Given the description of an element on the screen output the (x, y) to click on. 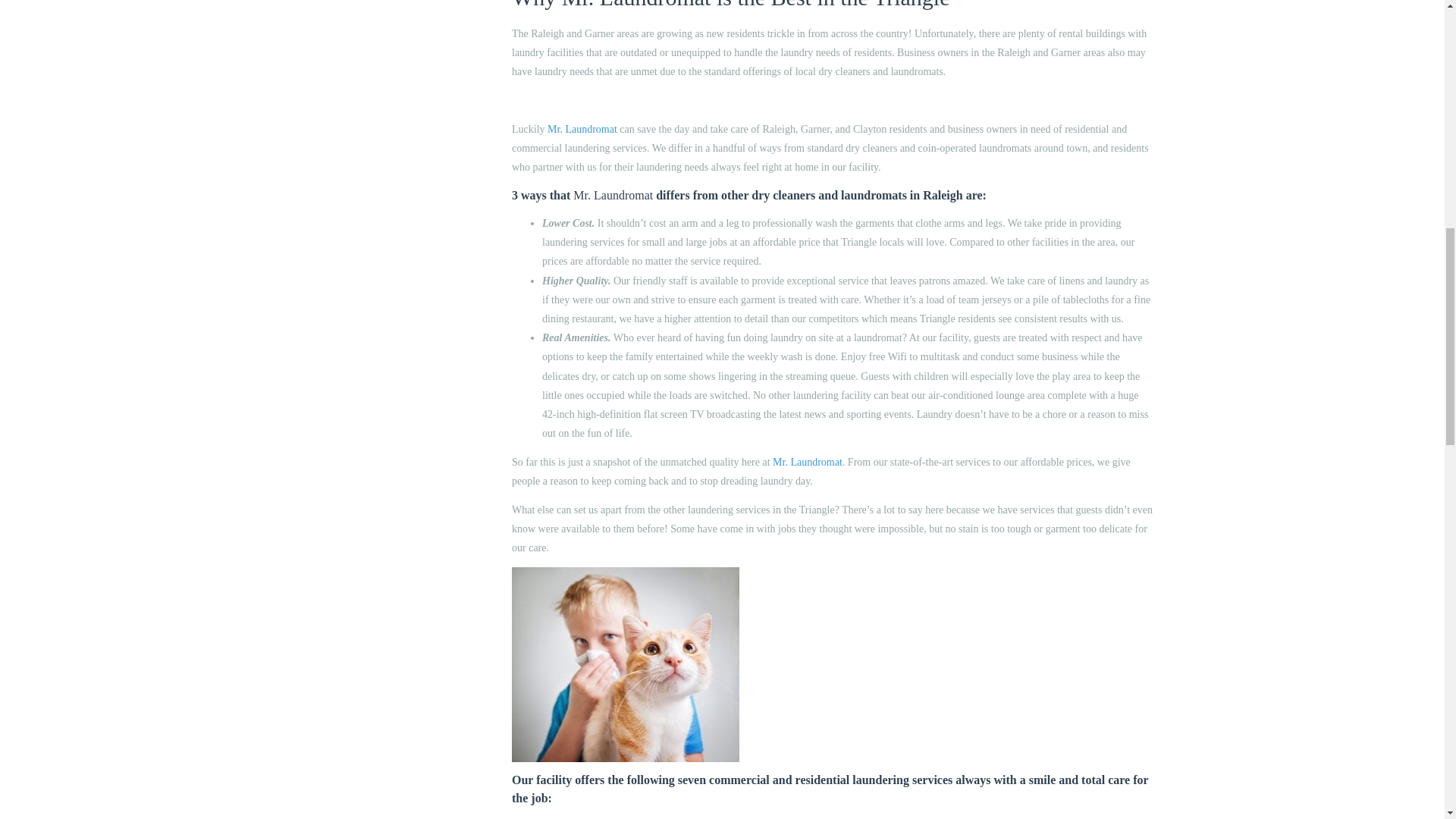
Mr. Laundromat (582, 129)
Mr. Laundromat (808, 461)
Mr. Laundromat (612, 195)
